Given the description of an element on the screen output the (x, y) to click on. 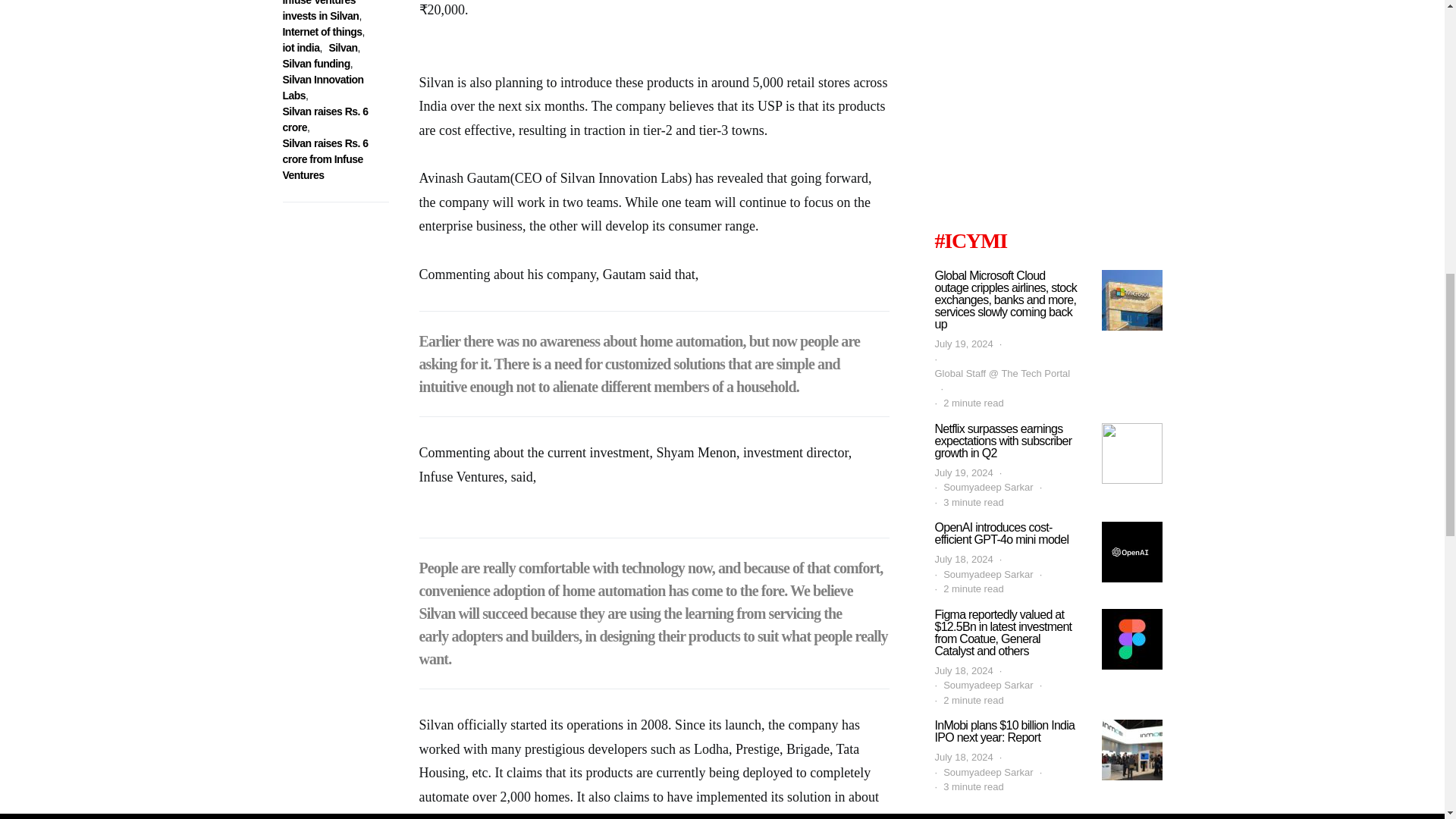
Infuse Ventures invests in Silvan (320, 11)
